Given the description of an element on the screen output the (x, y) to click on. 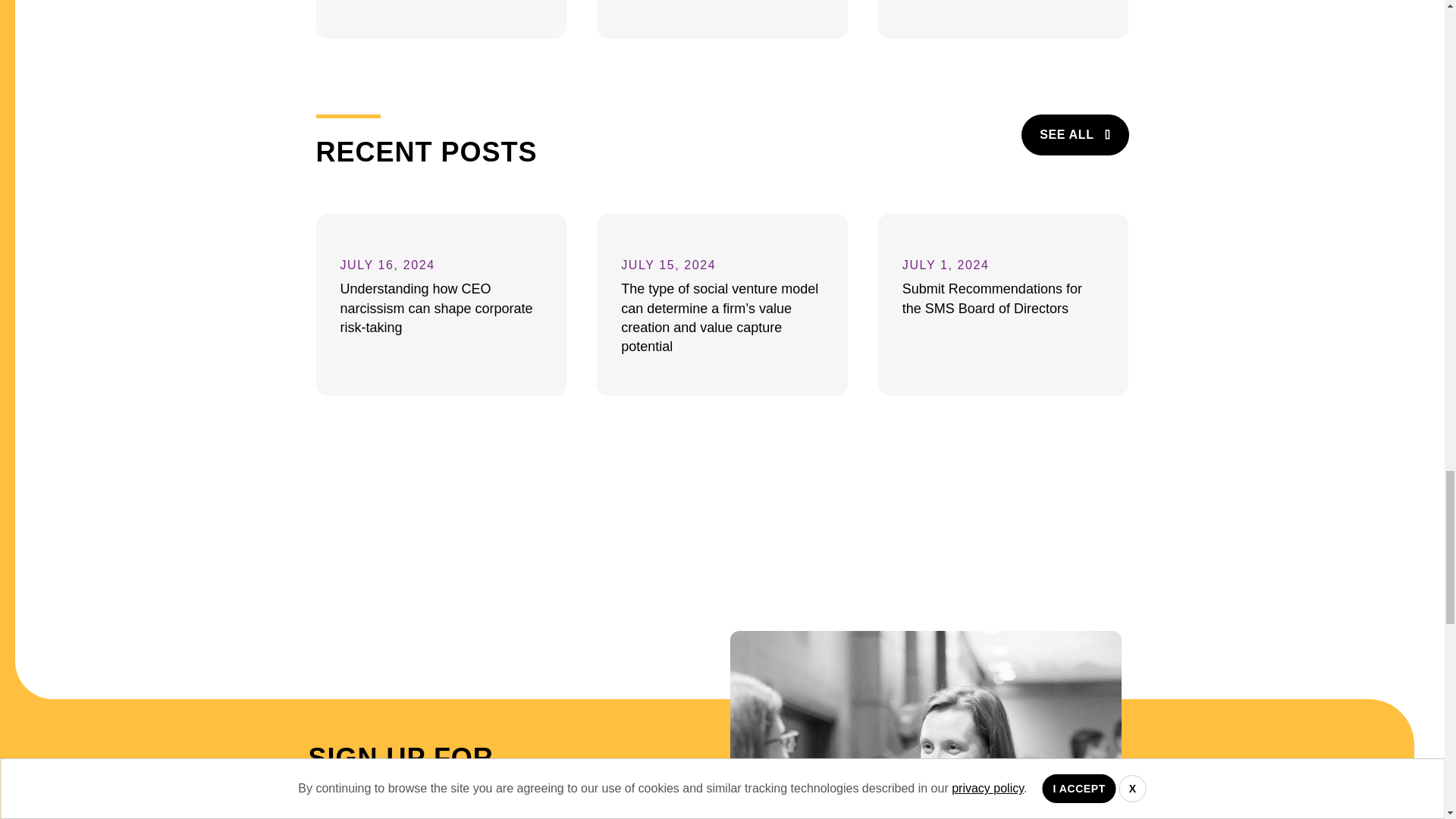
Submit Recommendations for the SMS Board of Directors (1003, 304)
Are Family Businesses Friendlier to Female Leadership? (1003, 19)
Yes, Corporate Social Misbehavior Harms Your Brand Globally (721, 19)
Global Footer SMS (925, 724)
